Given the description of an element on the screen output the (x, y) to click on. 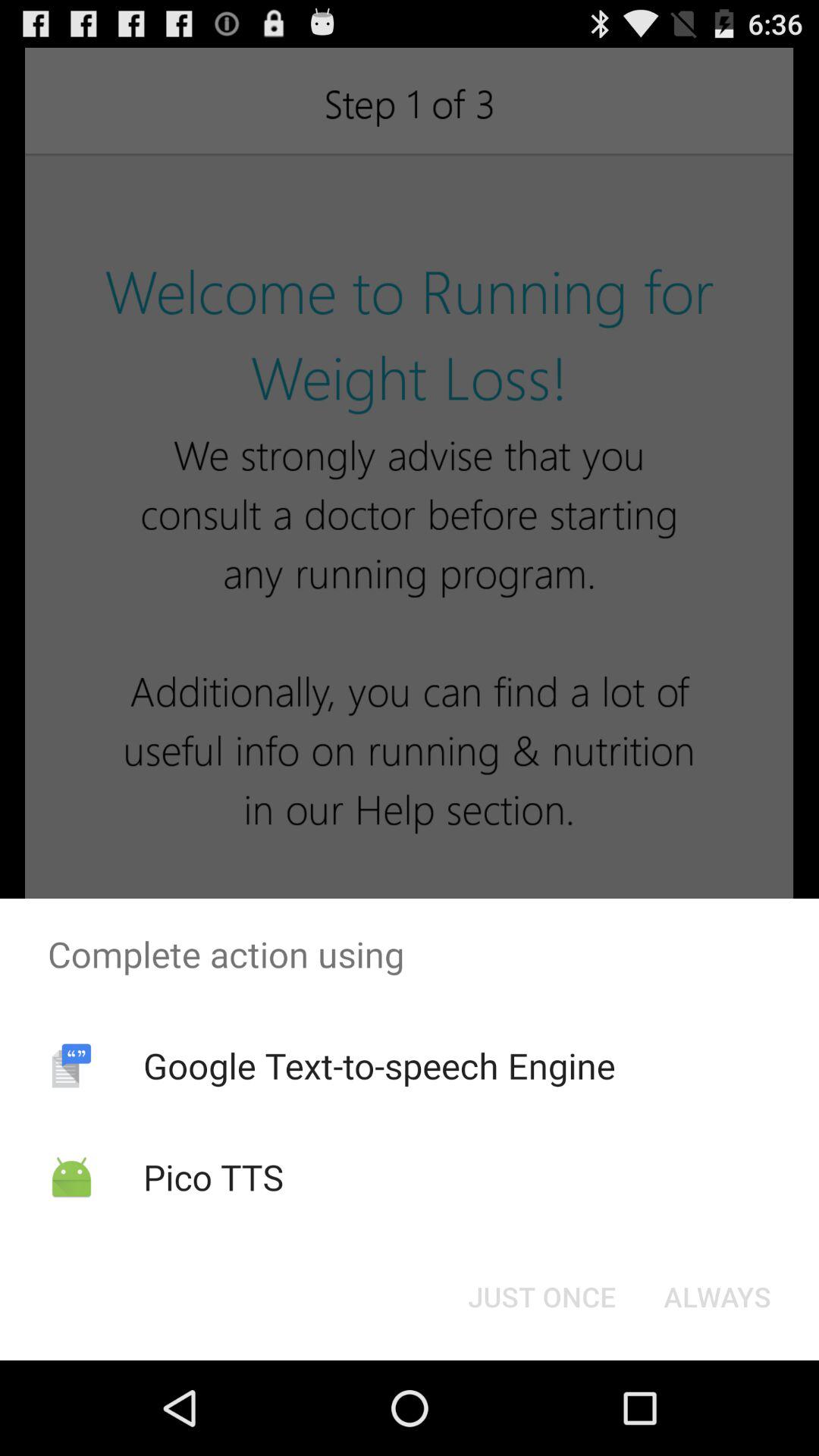
click the app below google text to app (213, 1176)
